Given the description of an element on the screen output the (x, y) to click on. 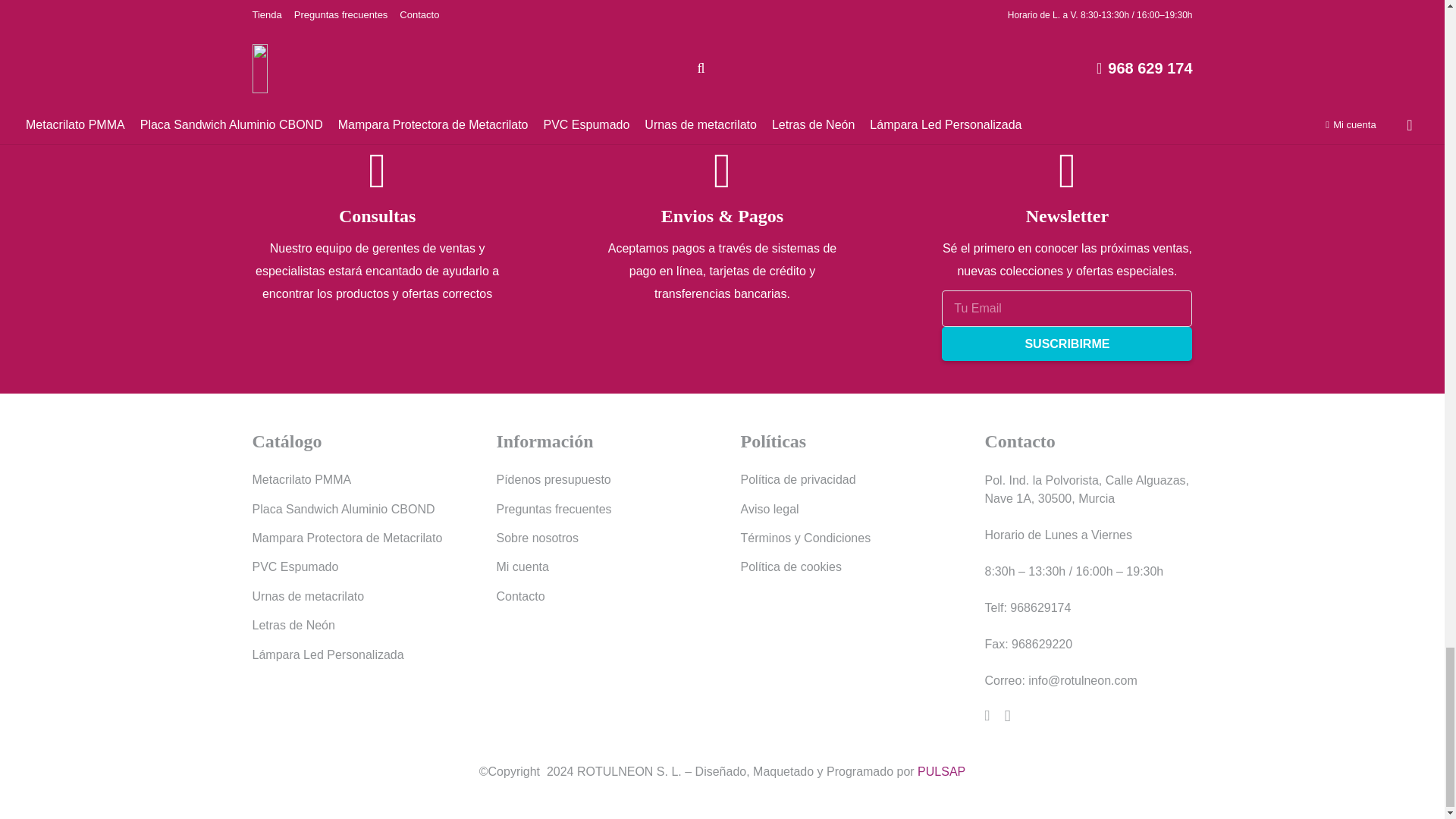
SUSCRIBIRME (1067, 343)
Contacto (520, 595)
Placa Sandwich Aluminio CBOND (342, 508)
Aviso legal (768, 508)
Metacrilato PMMA (300, 479)
Preguntas frecuentes (553, 508)
Mampara Protectora de Metacrilato (346, 537)
Sobre nosotros (537, 537)
Urnas de metacrilato (307, 595)
Mi cuenta (522, 566)
